Given the description of an element on the screen output the (x, y) to click on. 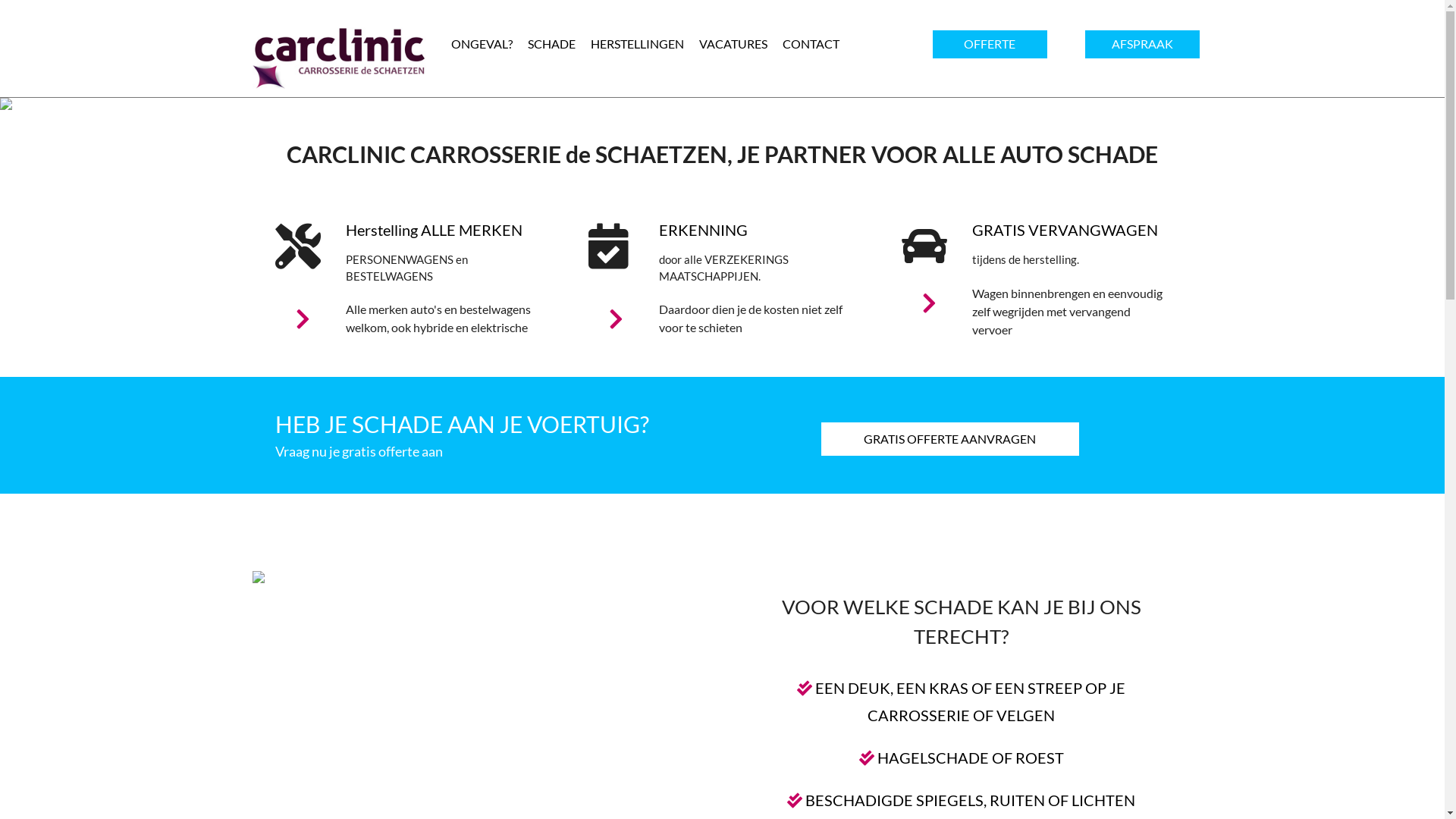
AFSPRAAK Element type: text (1142, 43)
ONGEVAL? Element type: text (480, 43)
GRATIS OFFERTE AANVRAGEN Element type: text (949, 438)
CONTACT Element type: text (810, 43)
SCHADE Element type: text (551, 43)
OFFERTE Element type: text (989, 43)
HERSTELLINGEN Element type: text (636, 43)
VACATURES Element type: text (733, 43)
